Given the description of an element on the screen output the (x, y) to click on. 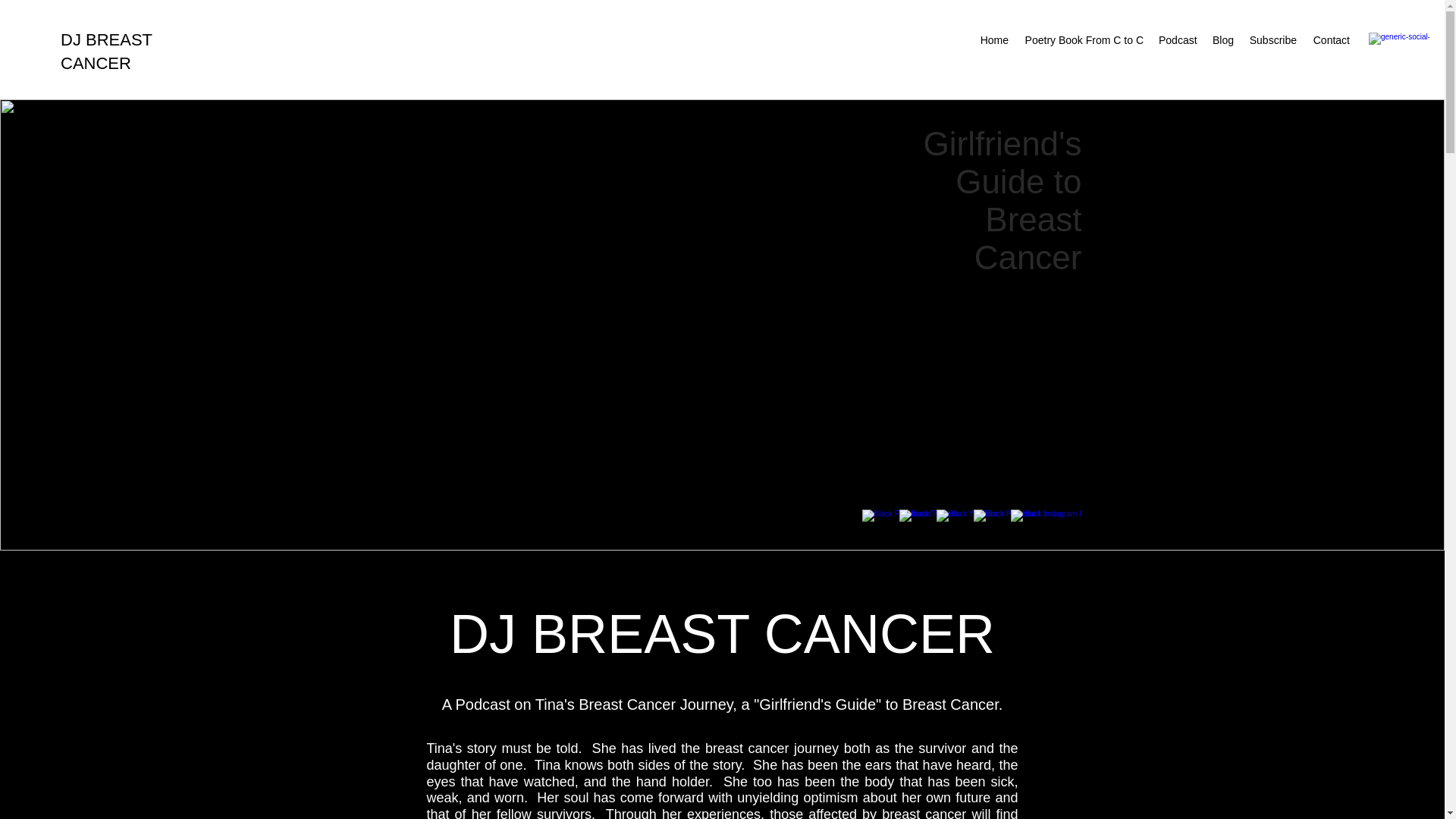
DJ BREAST CANCER (106, 51)
Subscribe (1272, 39)
Podcast (1177, 39)
Home (994, 39)
Blog (1222, 39)
Contact (1330, 39)
Poetry Book From C to C (1083, 39)
